Given the description of an element on the screen output the (x, y) to click on. 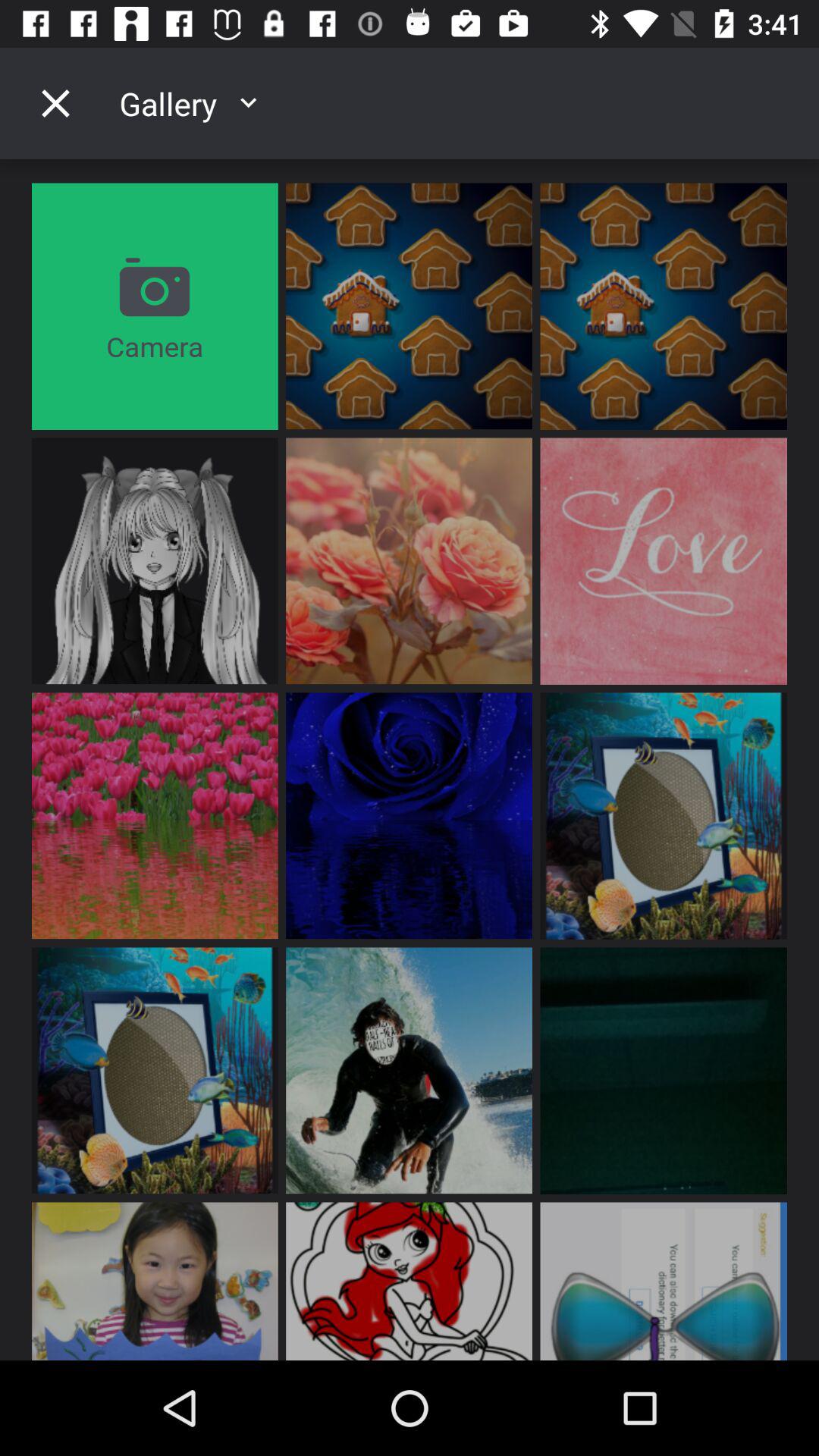
choose the item next to the gallery (55, 103)
